Given the description of an element on the screen output the (x, y) to click on. 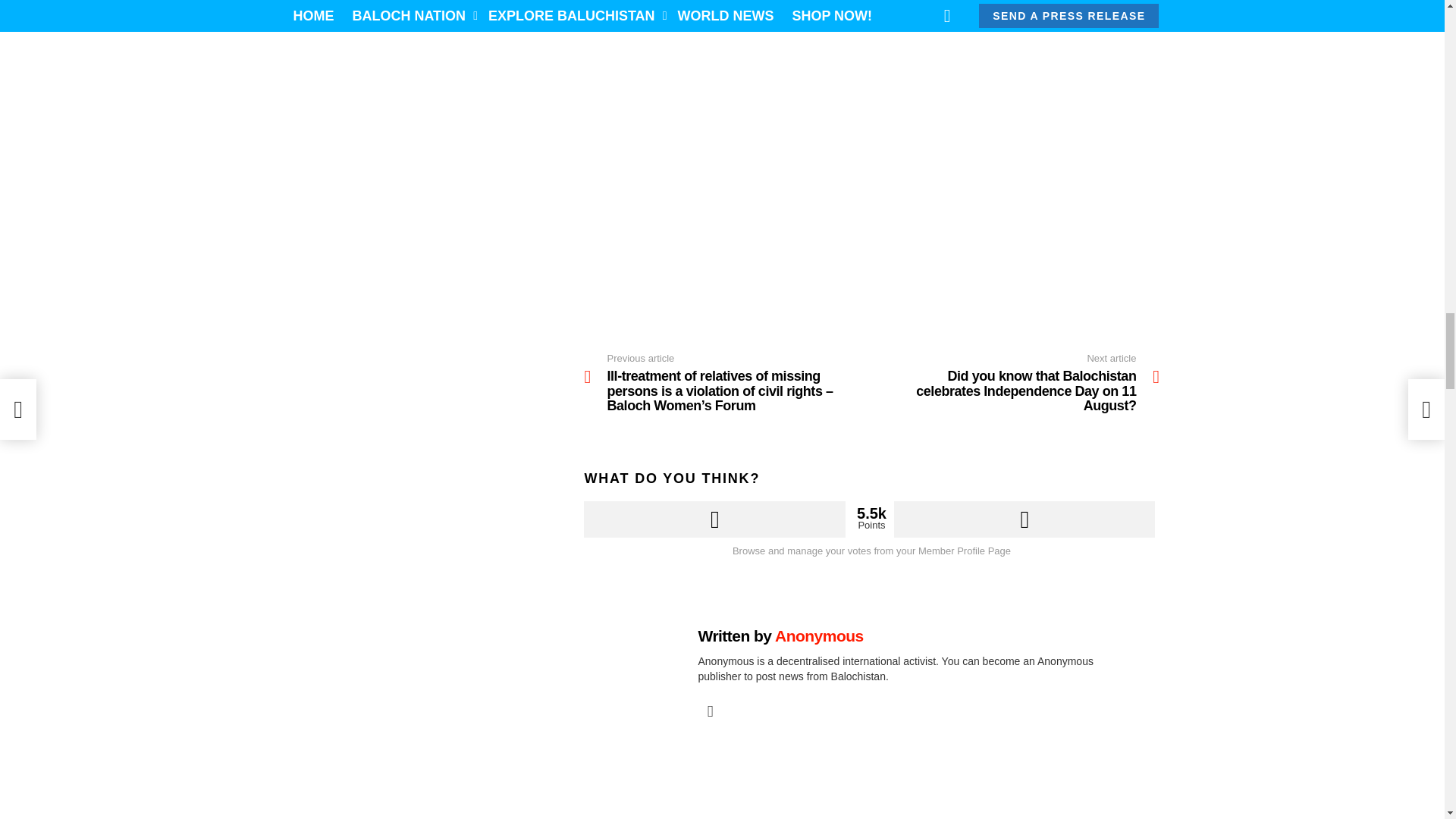
Downvote (1024, 519)
Upvote (714, 519)
